Given the description of an element on the screen output the (x, y) to click on. 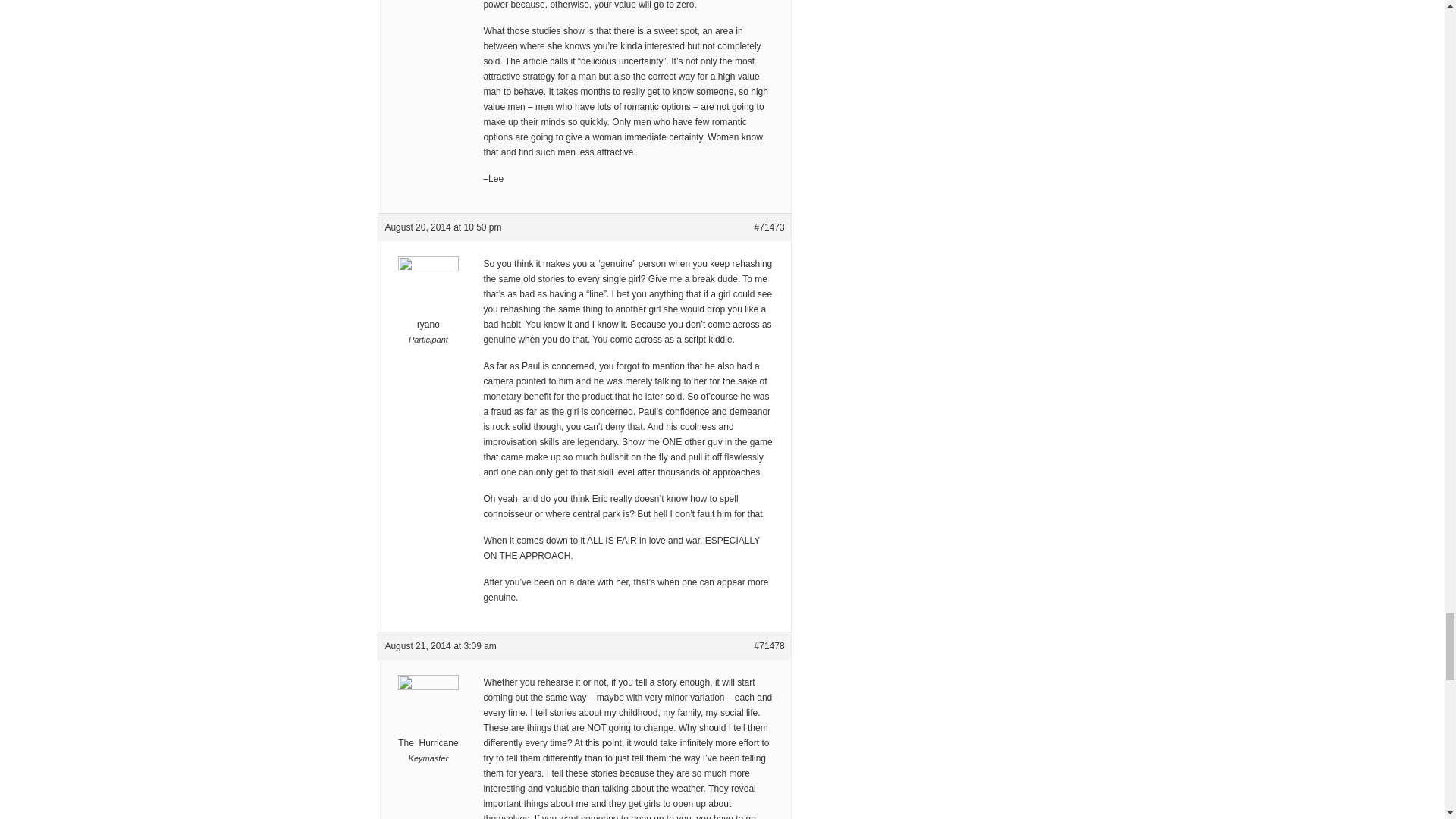
View ryano's profile (427, 304)
